Given the description of an element on the screen output the (x, y) to click on. 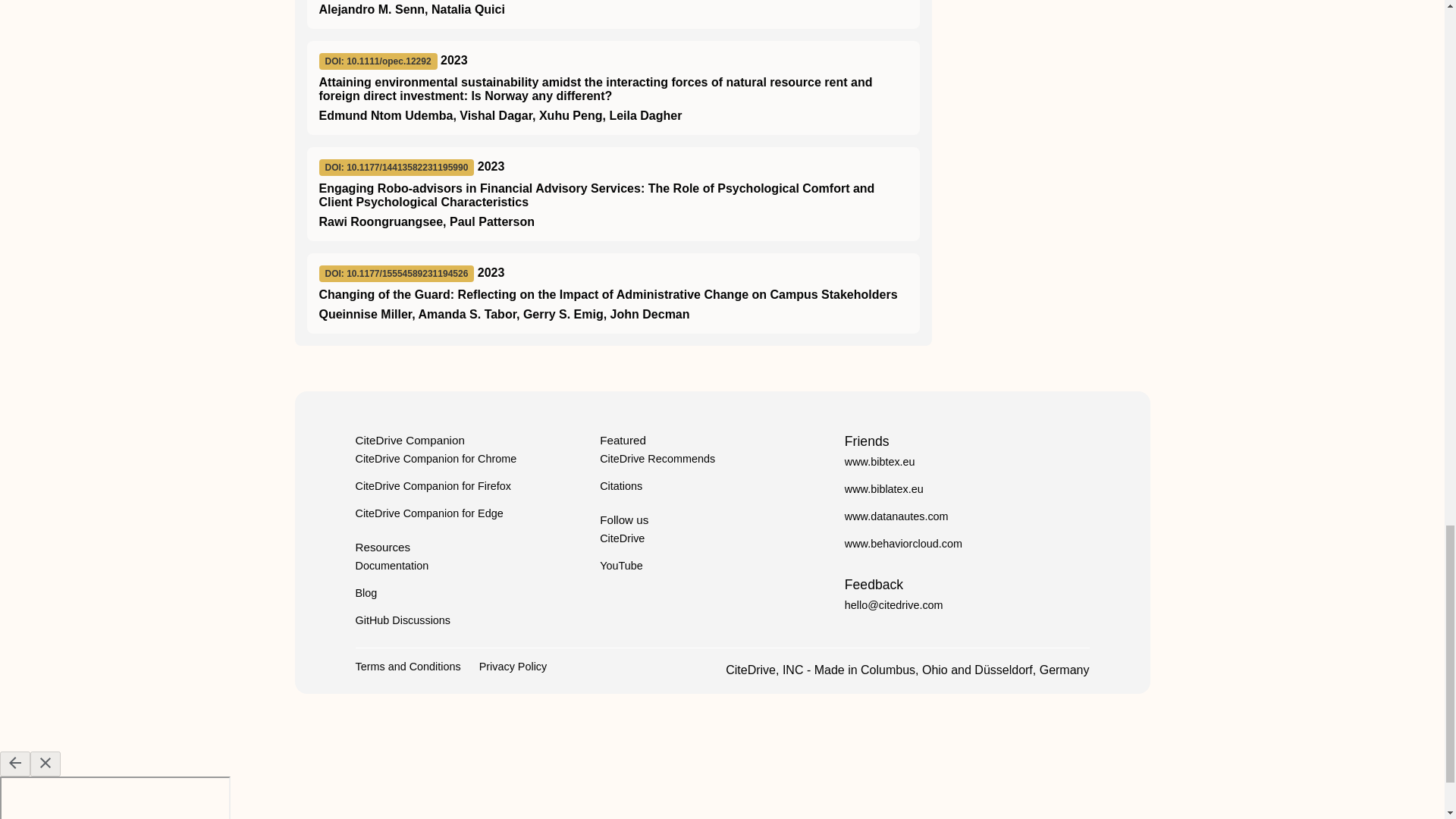
CiteDrive (622, 538)
CiteDrive Companion for Firefox (433, 485)
Citations (620, 485)
CiteDrive Companion for Edge (428, 512)
YouTube (621, 565)
Blog (366, 592)
Documentation (391, 565)
CiteDrive Recommends (656, 458)
CiteDrive Companion for Chrome (435, 458)
GitHub Discussions (402, 620)
